Given the description of an element on the screen output the (x, y) to click on. 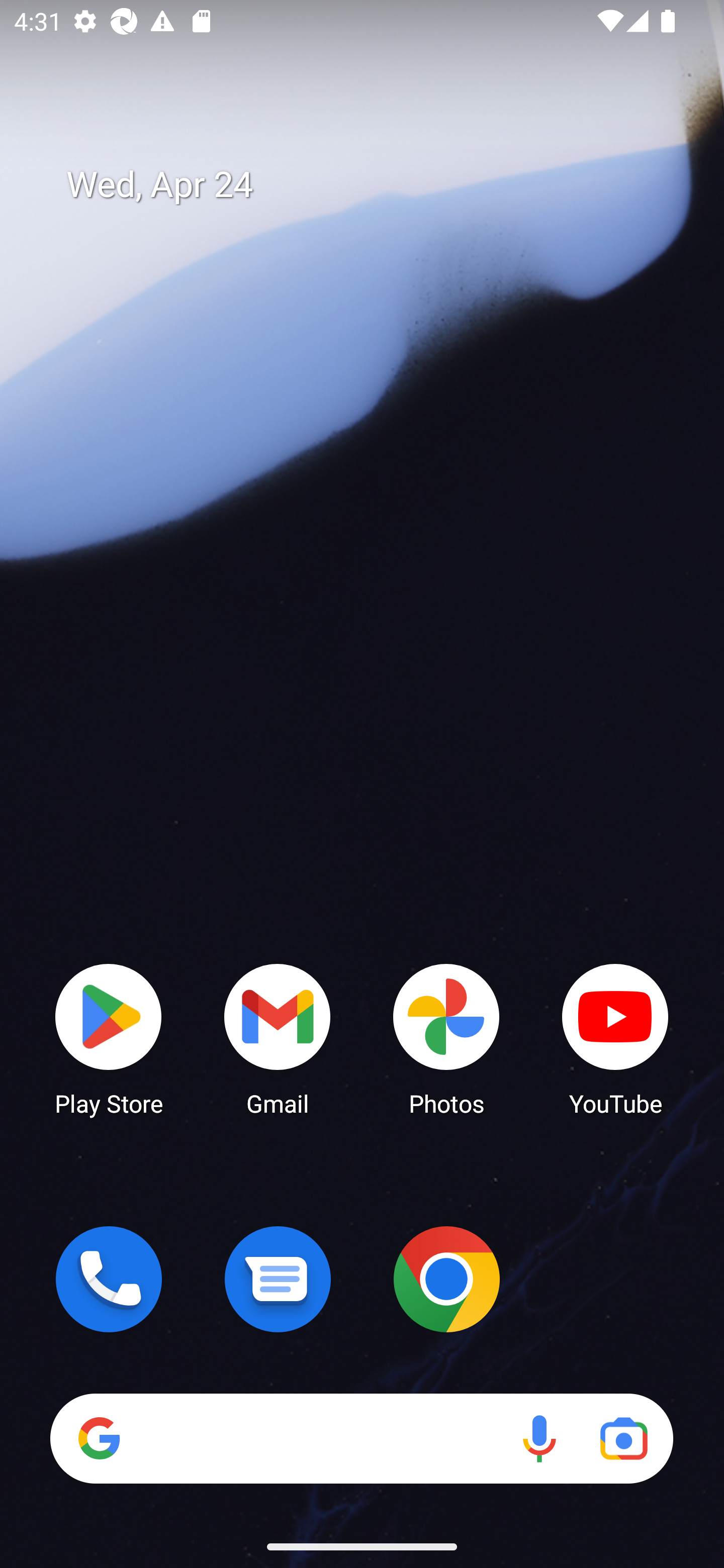
Wed, Apr 24 (375, 184)
Play Store (108, 1038)
Gmail (277, 1038)
Photos (445, 1038)
YouTube (615, 1038)
Phone (108, 1279)
Messages (277, 1279)
Chrome (446, 1279)
Search Voice search Google Lens (361, 1438)
Voice search (539, 1438)
Google Lens (623, 1438)
